Given the description of an element on the screen output the (x, y) to click on. 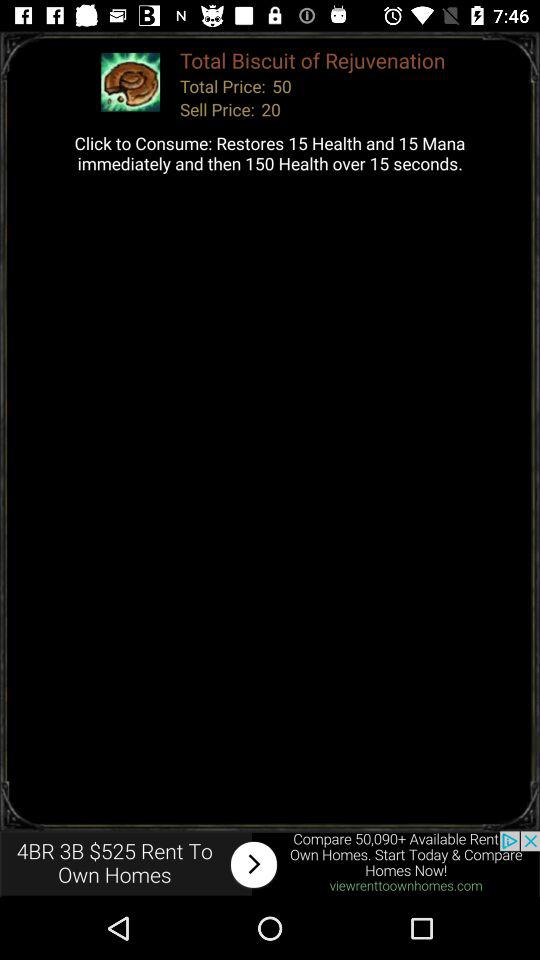
forword (270, 864)
